Given the description of an element on the screen output the (x, y) to click on. 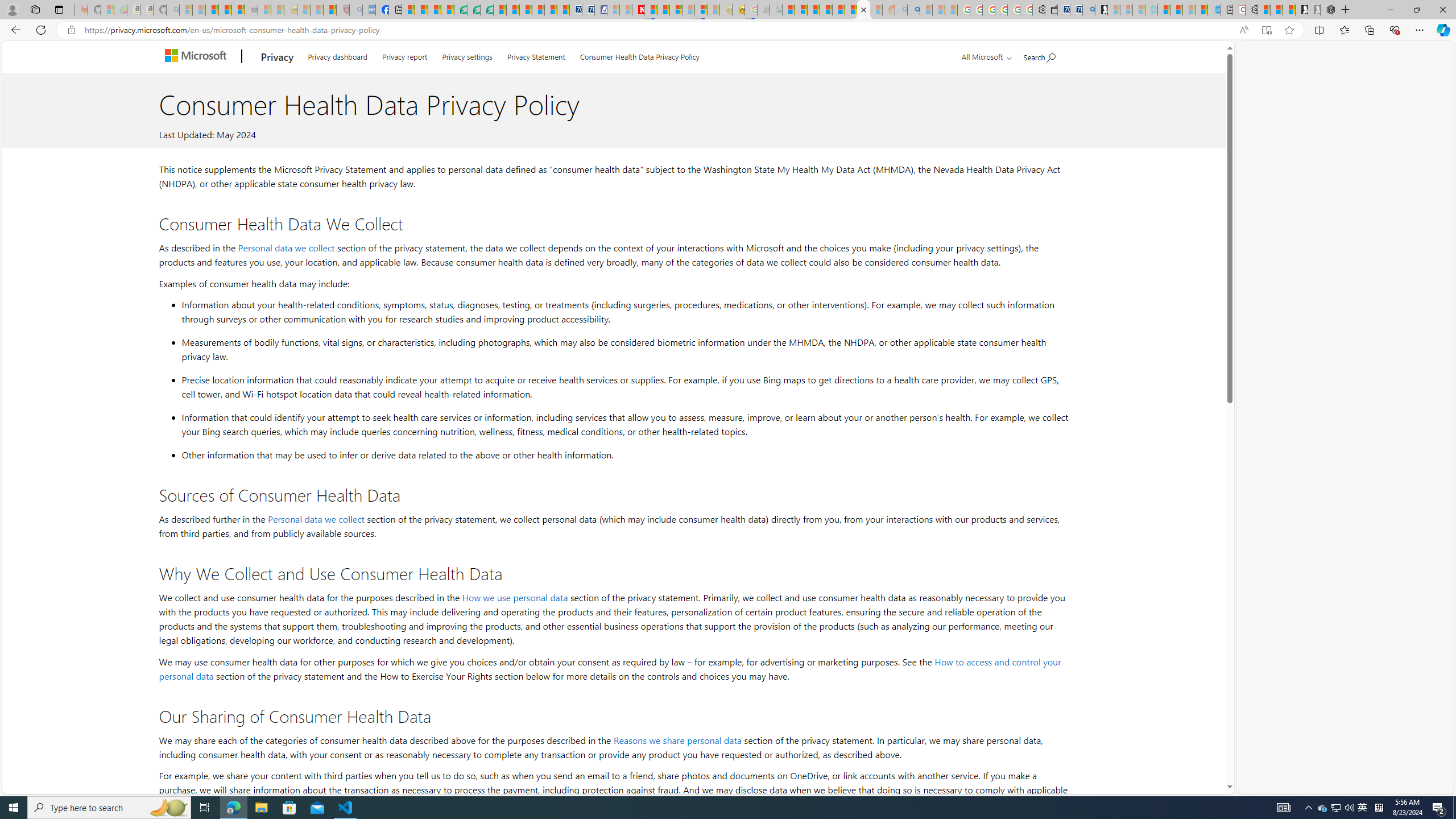
Privacy settings (466, 54)
Student Loan Update: Forgiveness Program Ends This Month (826, 9)
Consumer Health Data Privacy Policy (864, 9)
